Given the description of an element on the screen output the (x, y) to click on. 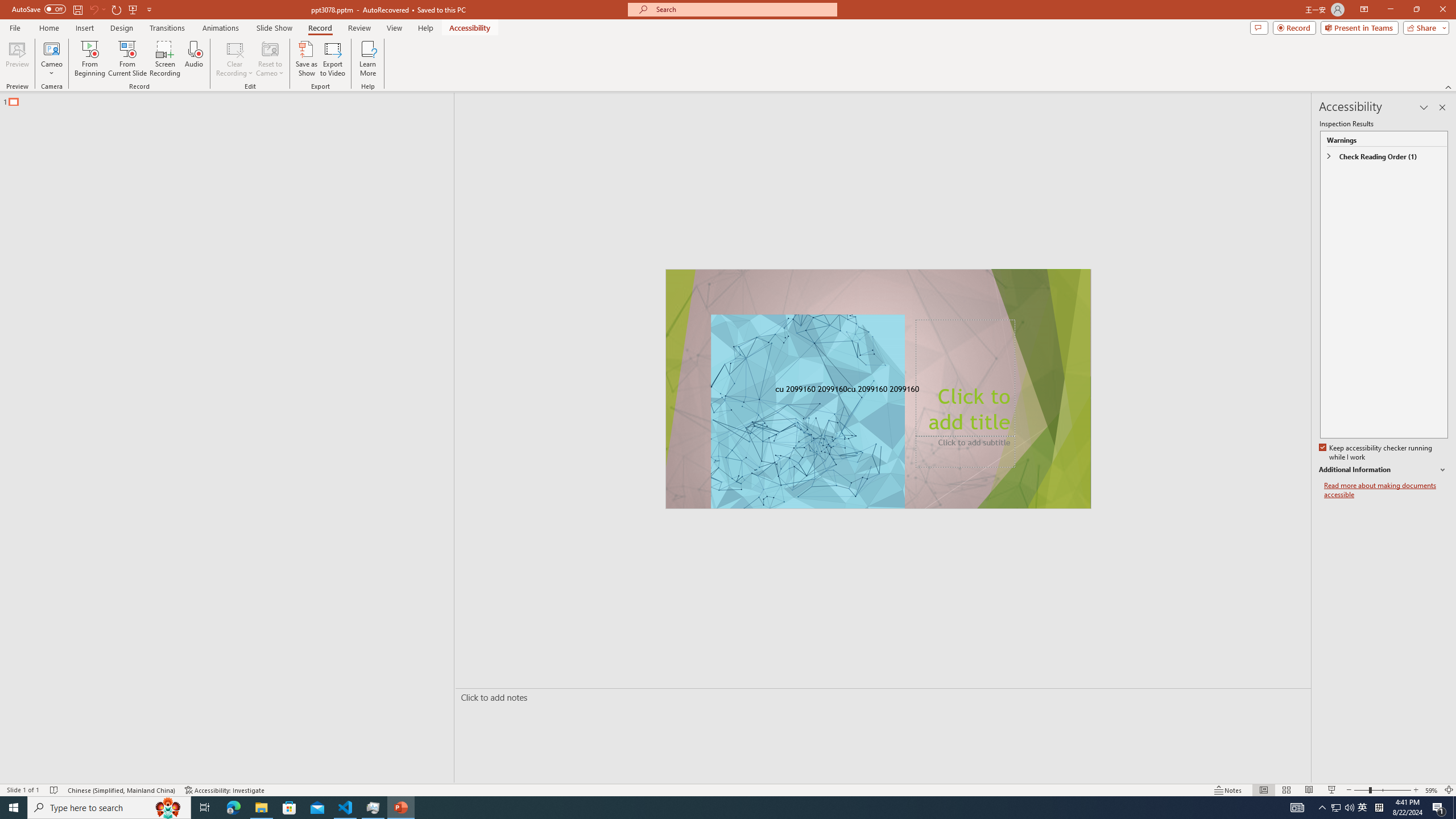
2401.17399v1.pdf (1340, 26)
Xftp 7 (98, 405)
2406.12373v2.pdf (1340, 254)
Notion (32, 102)
Visual Studio Code (32, 335)
2312.03032v2.pdf (1275, 254)
PyCharm 2022.2 (163, 487)
symbol_LLM.pdf (1210, 102)
